Given the description of an element on the screen output the (x, y) to click on. 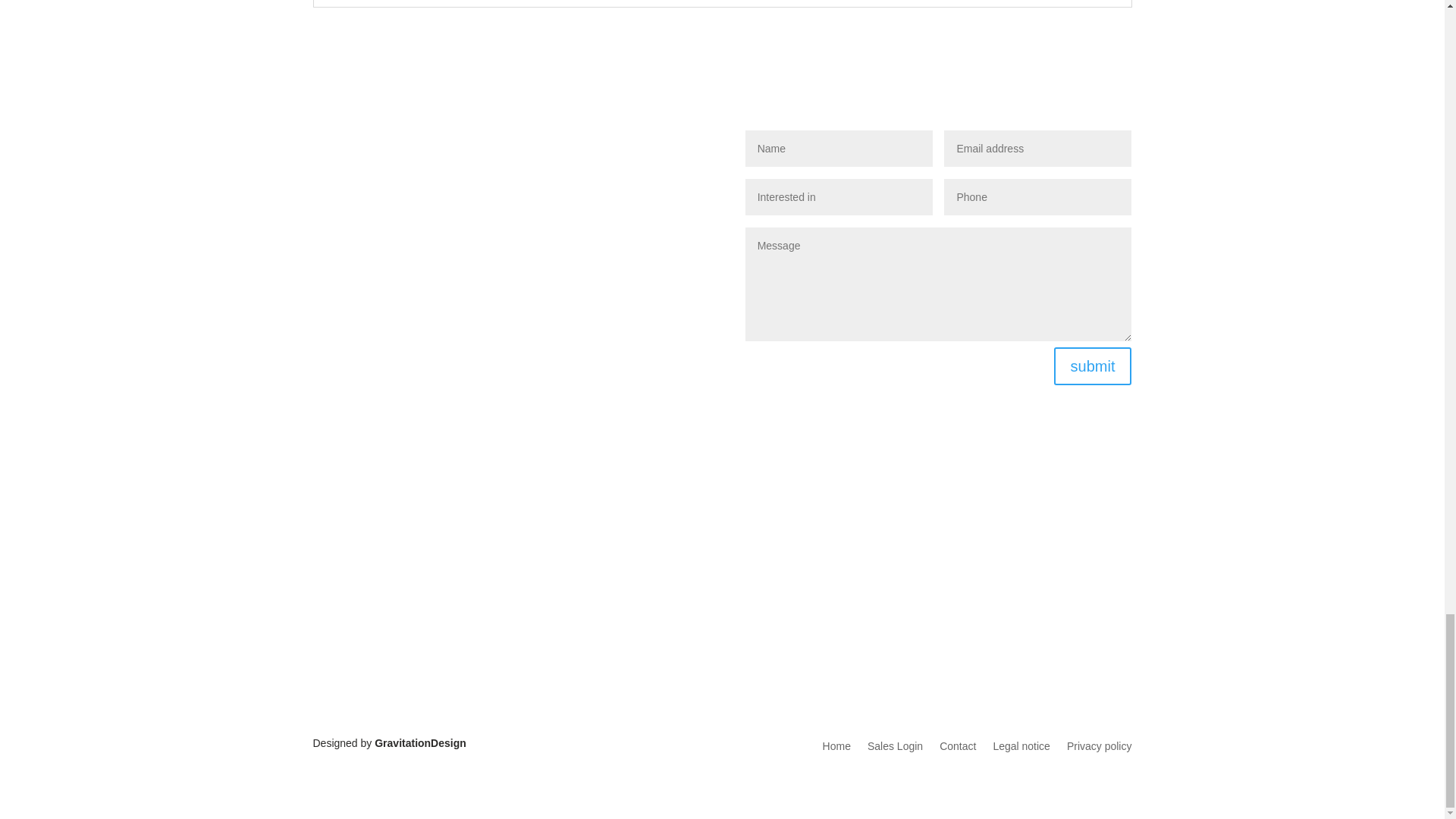
Follow on Facebook (900, 564)
Follow on Youtube (930, 564)
Follow on Instagram (961, 564)
Only numbers allowed. (1037, 197)
